Given the description of an element on the screen output the (x, y) to click on. 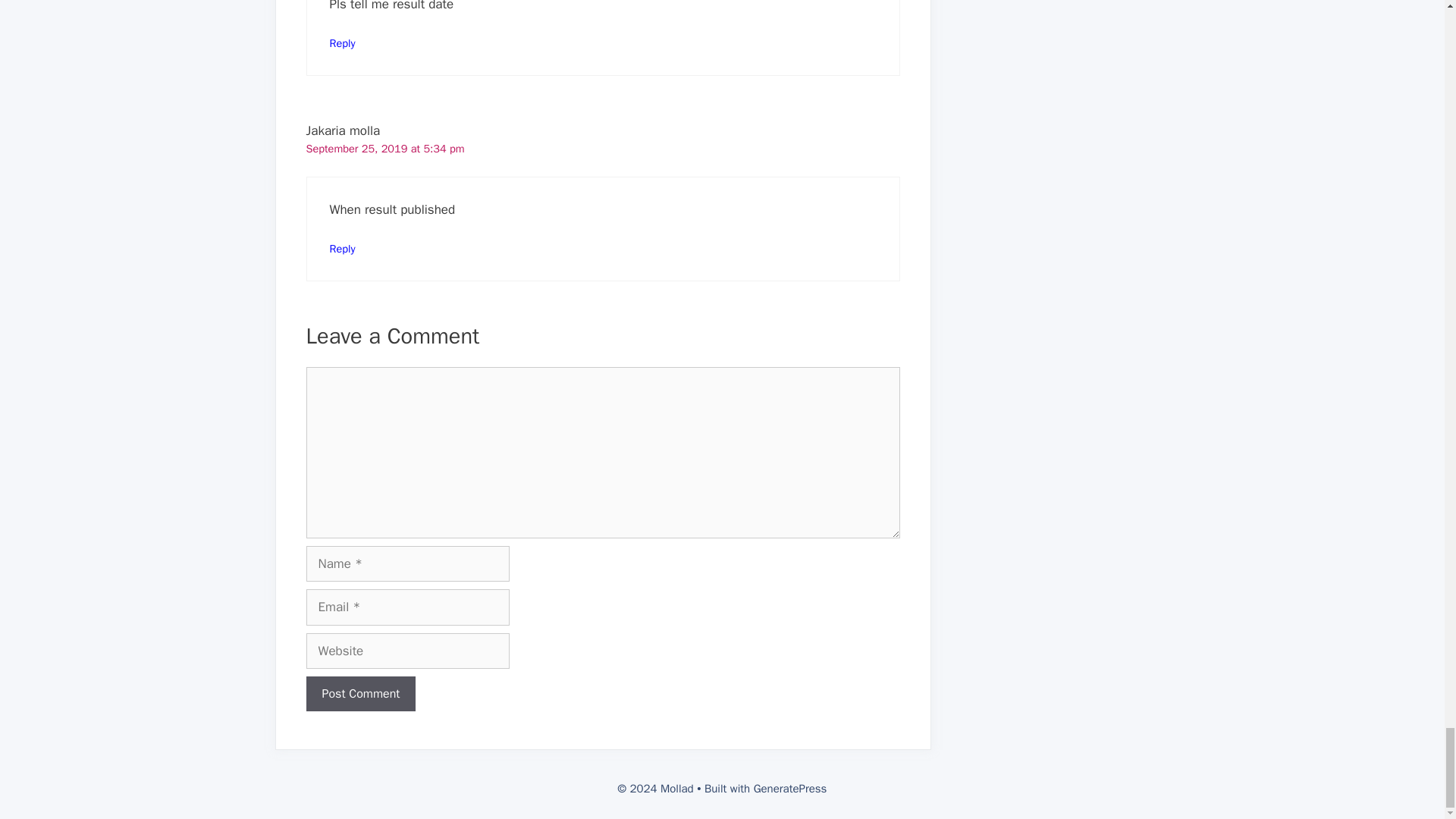
Post Comment (360, 693)
